Given the description of an element on the screen output the (x, y) to click on. 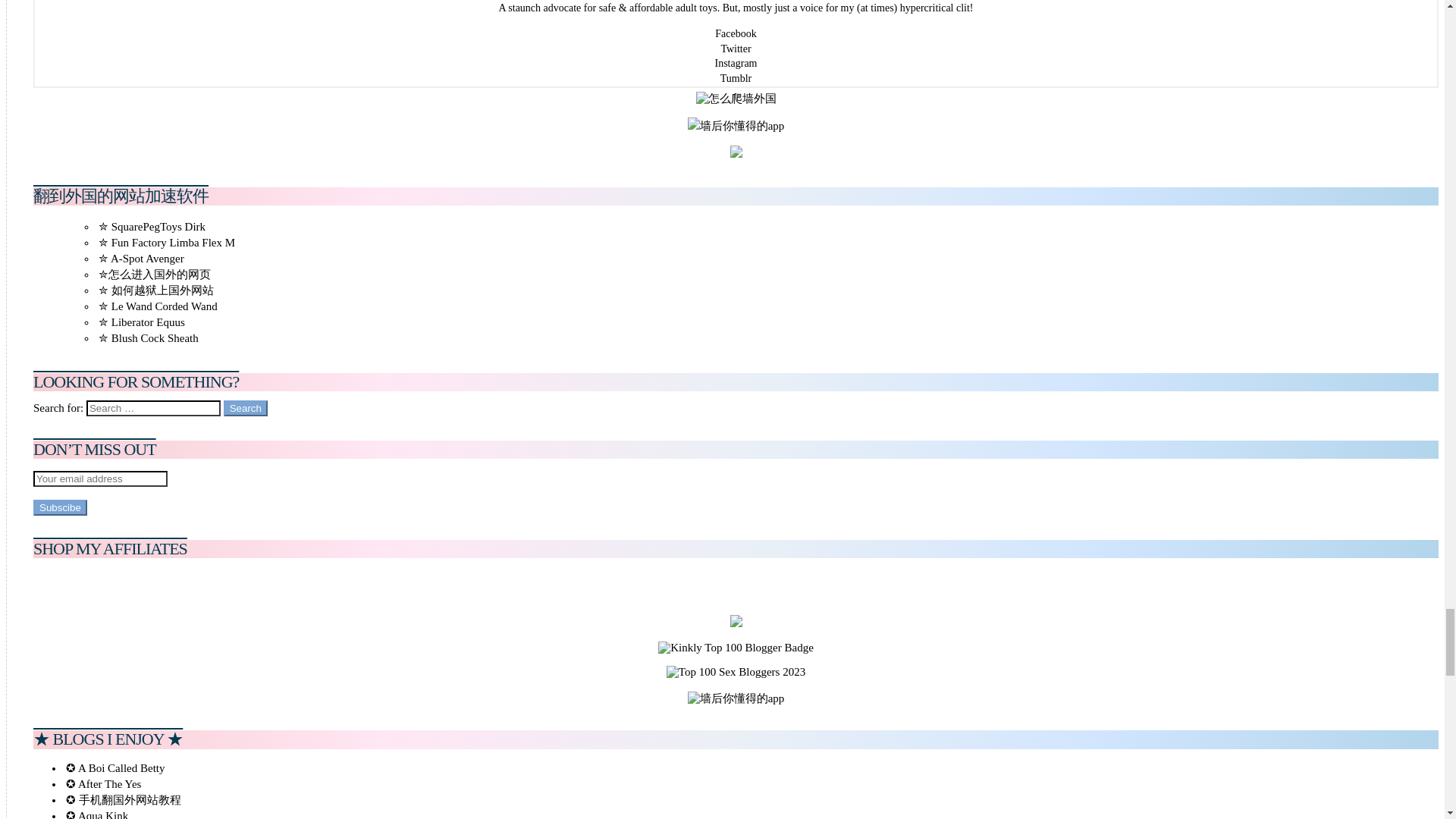
Subscibe (60, 507)
Subscibe (60, 507)
Search (245, 408)
Top Kinkly Blogs ranked by Kinkly.com (735, 647)
Search (245, 408)
Search (245, 408)
